Given the description of an element on the screen output the (x, y) to click on. 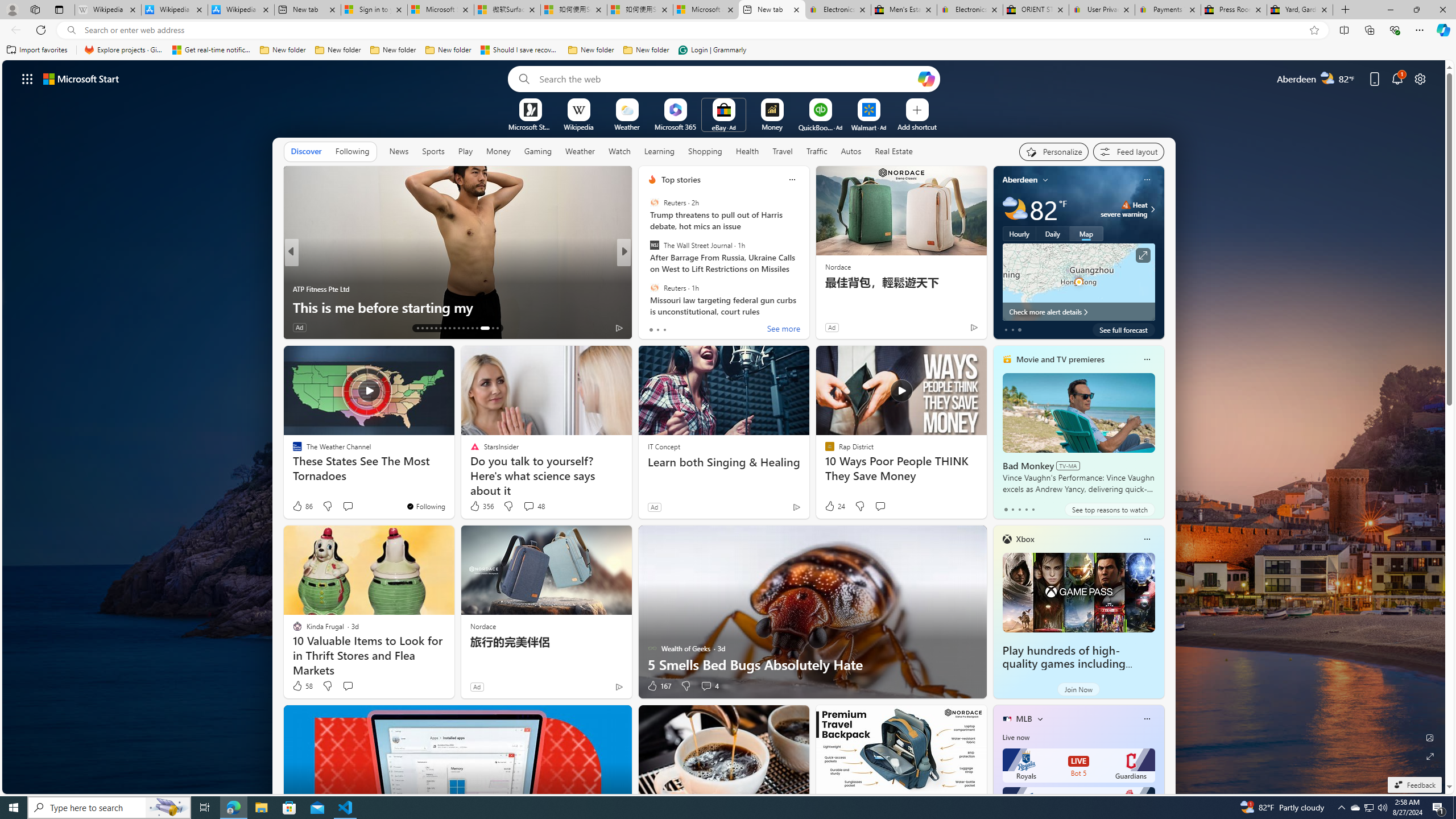
Click to see more information (1142, 255)
Login | Grammarly (712, 49)
Learn both Singing & Healing (723, 462)
AutomationID: tab-13 (417, 328)
GOBankingRates (647, 270)
